Given the description of an element on the screen output the (x, y) to click on. 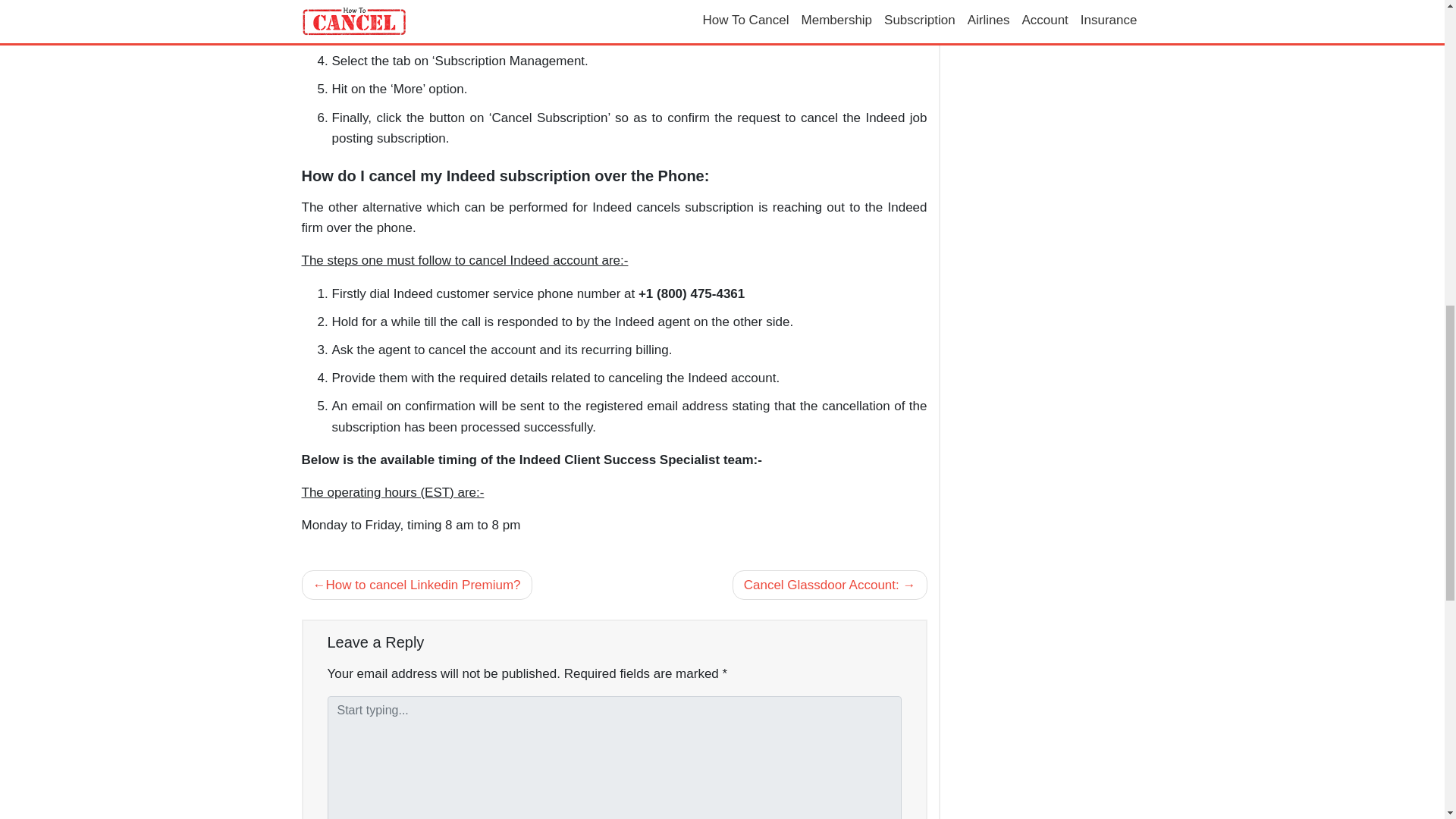
How to cancel Linkedin Premium? (416, 584)
Cancel Glassdoor Account: (829, 584)
